Given the description of an element on the screen output the (x, y) to click on. 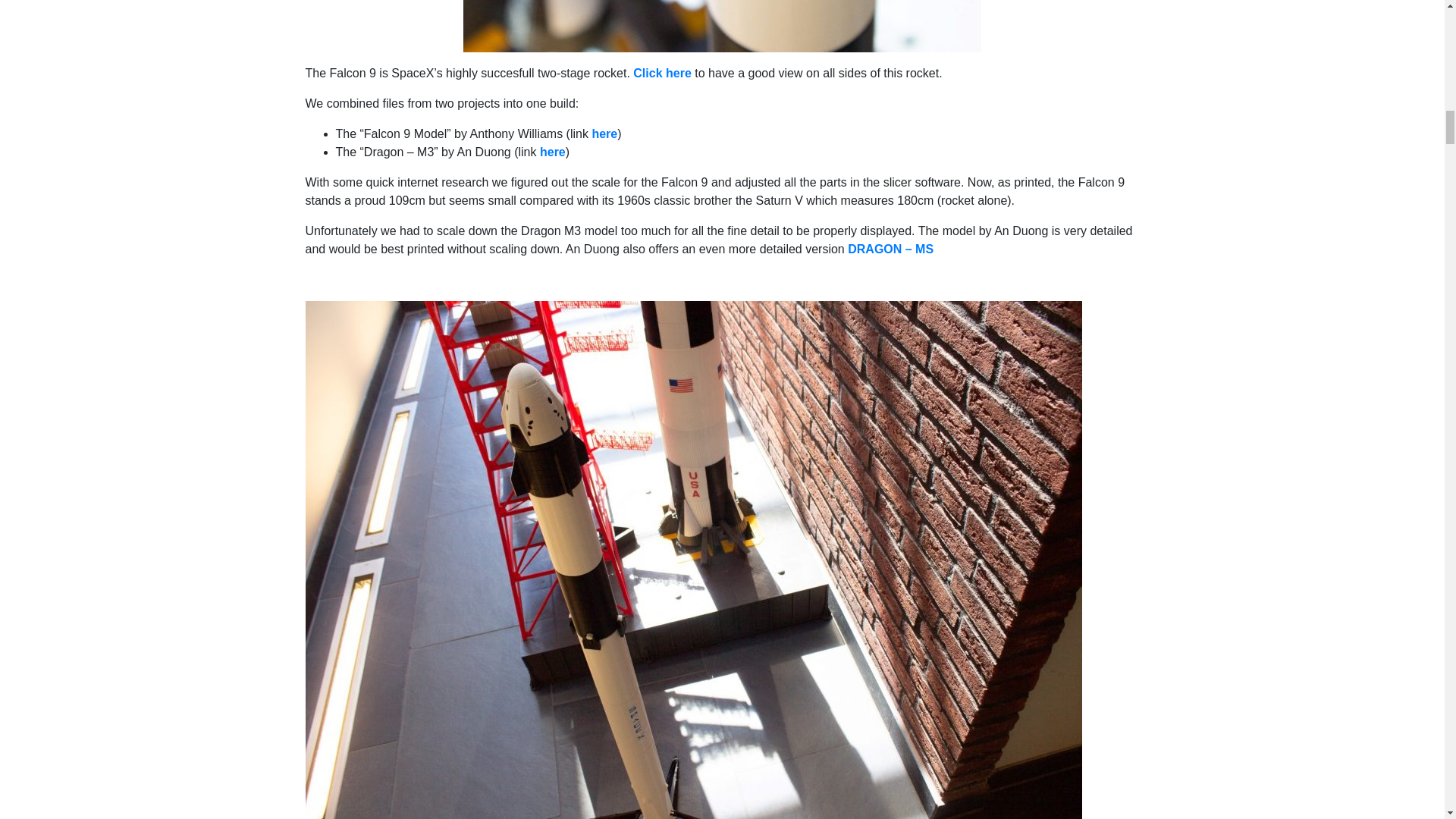
here (604, 133)
Click here (661, 72)
here (553, 151)
